Given the description of an element on the screen output the (x, y) to click on. 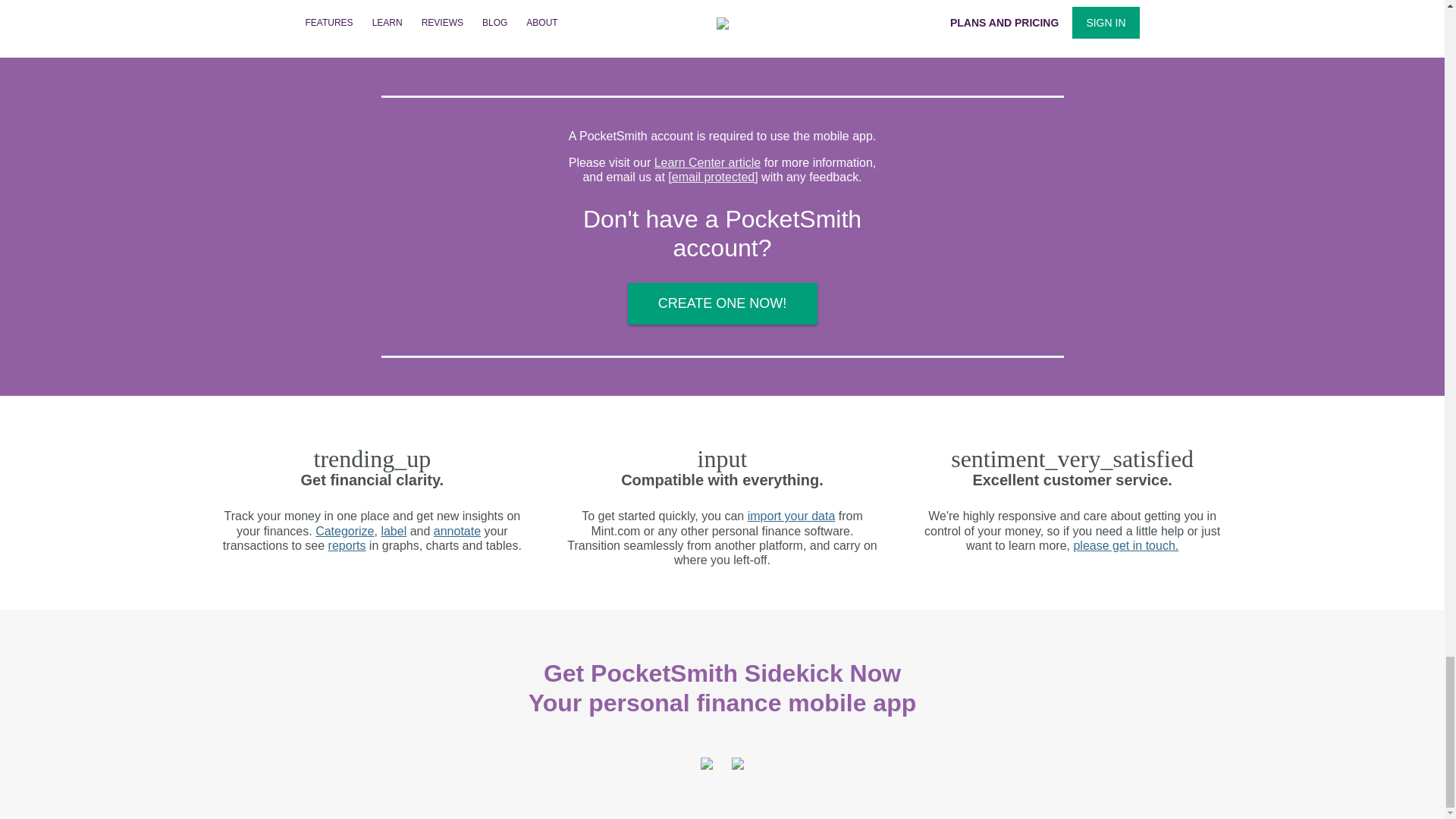
CREATE ONE NOW! (721, 303)
please get in touch. (1125, 545)
annotate (456, 530)
Categorize (344, 530)
reports (347, 545)
import your data (791, 515)
label (393, 530)
Learn Center article (707, 162)
